Given the description of an element on the screen output the (x, y) to click on. 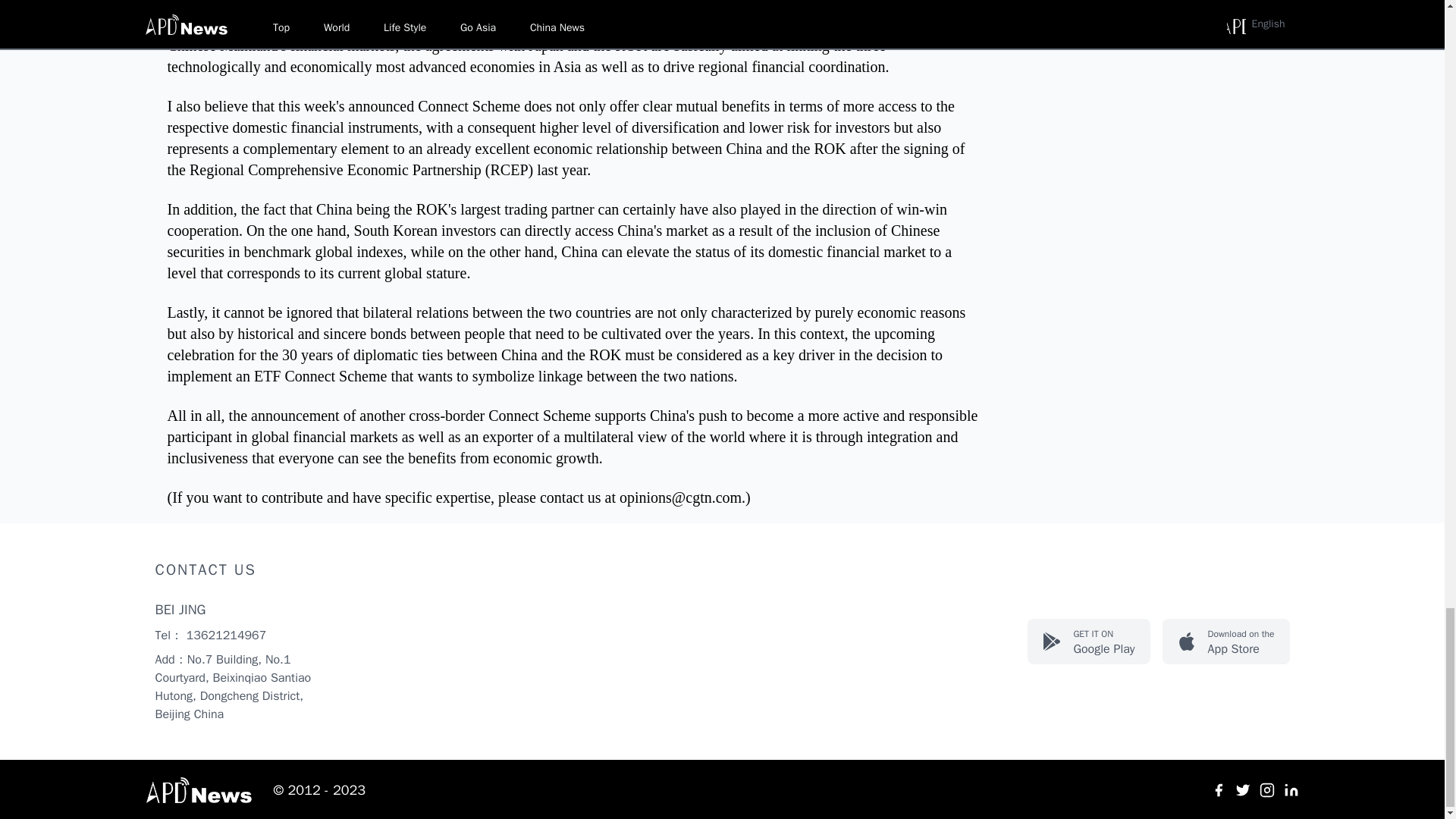
ww (1241, 789)
tt (1217, 789)
